Given the description of an element on the screen output the (x, y) to click on. 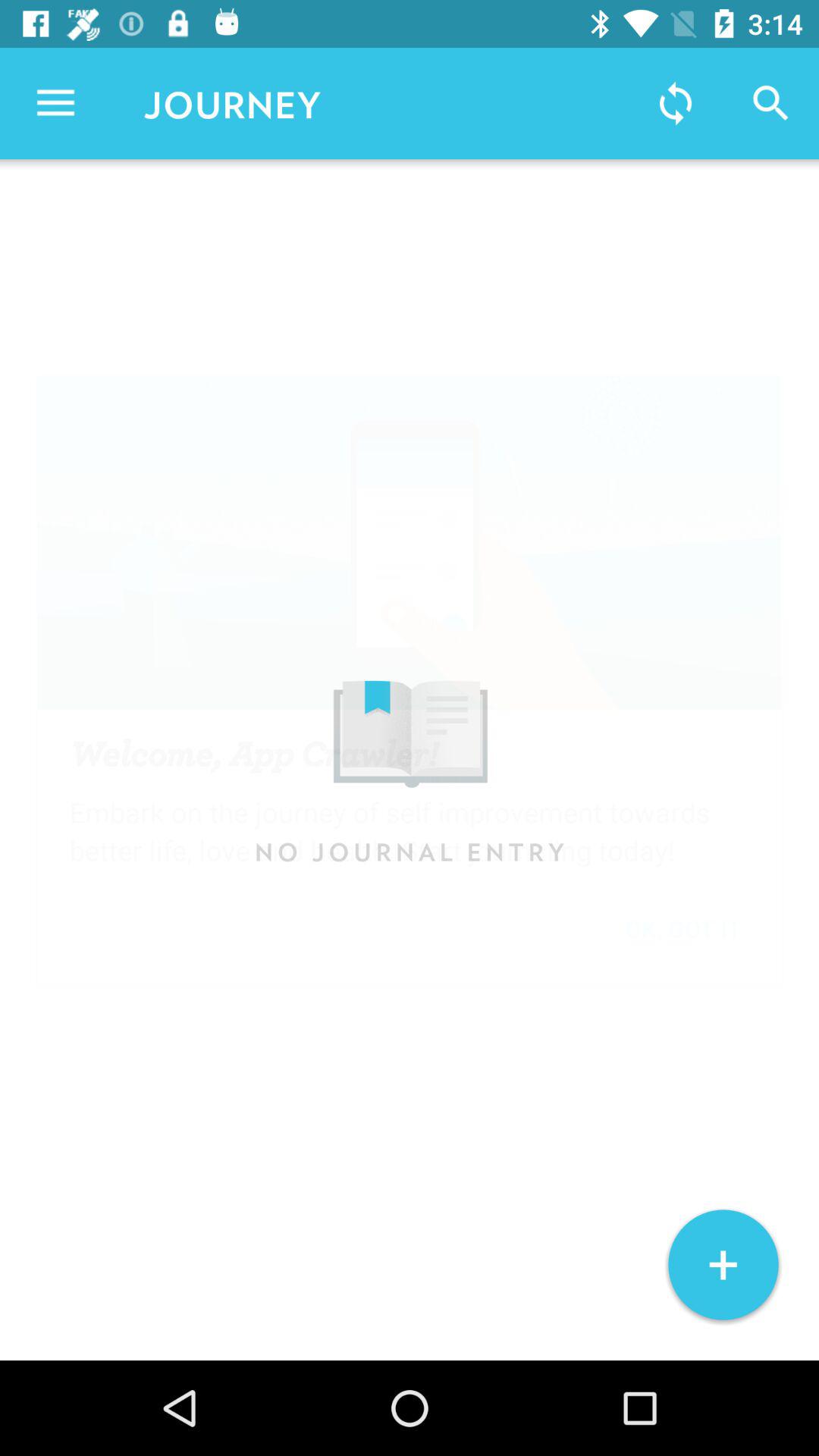
select the item to the left of journey icon (55, 103)
